Given the description of an element on the screen output the (x, y) to click on. 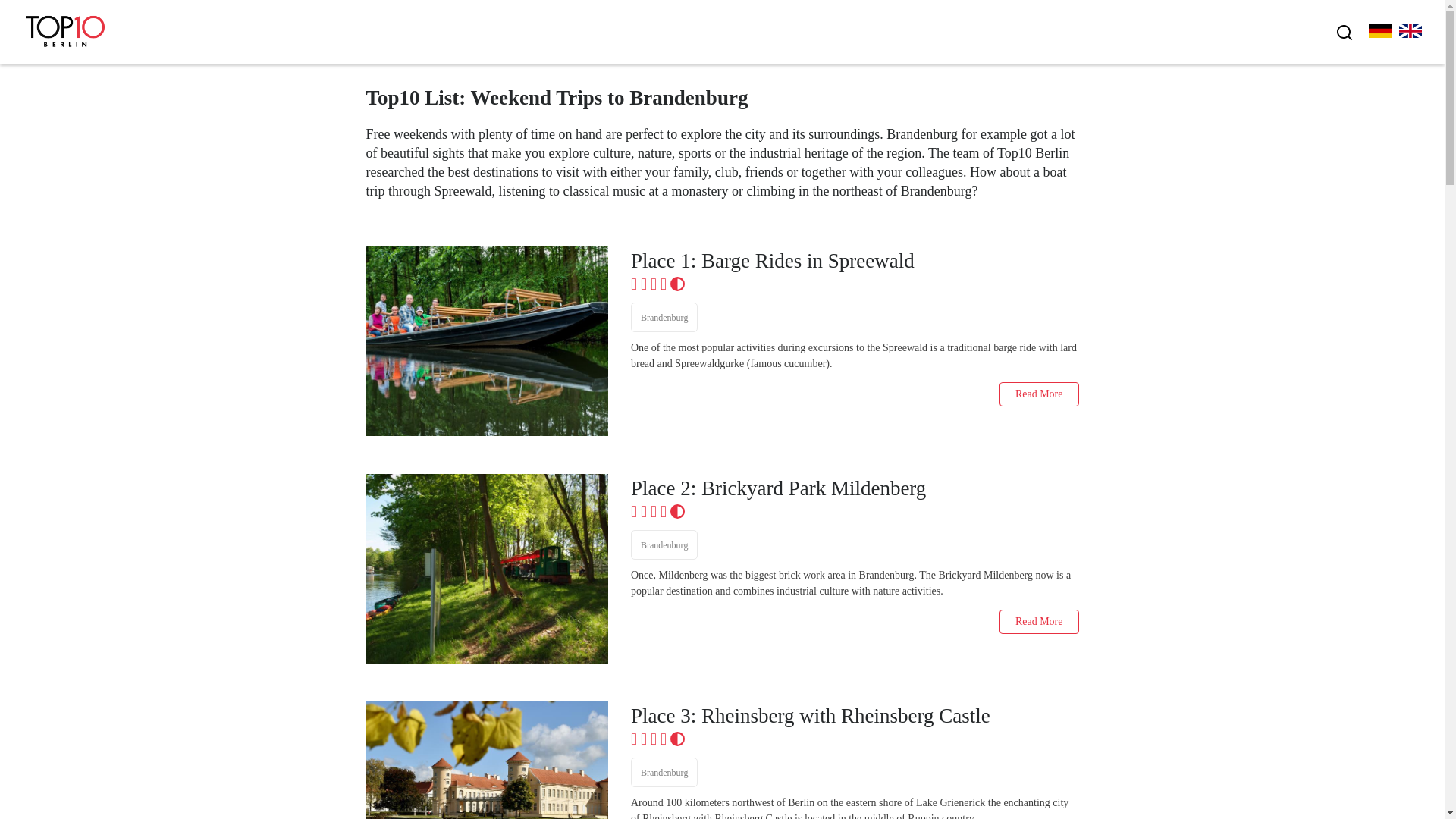
Read More (1038, 621)
Read More (1038, 394)
Brandenburg (663, 317)
Place 3: Rheinsberg with Rheinsberg Castle (853, 715)
Barge Rides in Spreewald (853, 260)
Brickyard Park Mildenberg (486, 568)
Place 2: Brickyard Park Mildenberg (853, 487)
Brandenburg (663, 772)
Place 1: Barge Rides in Spreewald (853, 260)
Brandenburg (663, 544)
Rheinsberg with Rheinsberg Castle (486, 760)
Barge Rides in Spreewald (486, 340)
Brickyard Park Mildenberg (853, 487)
Read More (1038, 621)
Read More (1038, 394)
